Given the description of an element on the screen output the (x, y) to click on. 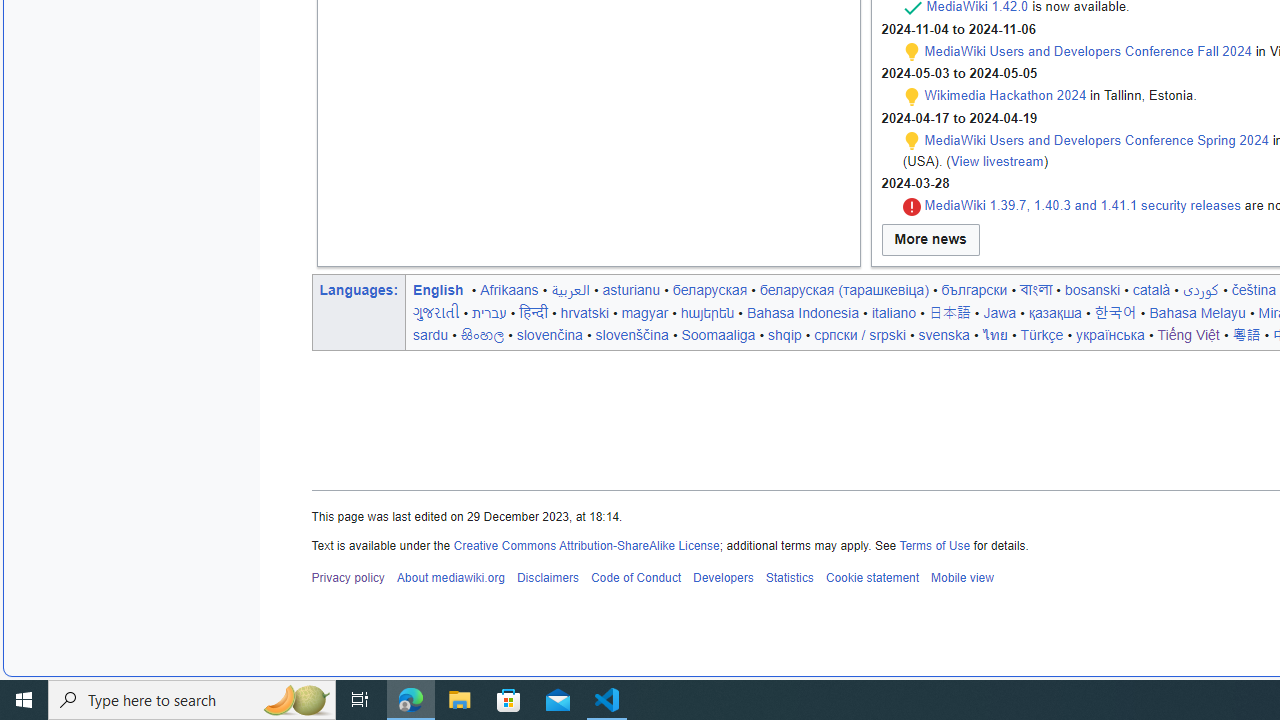
More news (930, 239)
asturianu (630, 289)
Cookie statement (872, 578)
Code of Conduct (635, 578)
svenska (943, 334)
MediaWiki Users and Developers Conference Spring 2024 (1096, 139)
Terms of Use (934, 544)
Privacy policy (348, 578)
Creative Commons Attribution-ShareAlike License (586, 544)
MediaWiki 1.39.7, 1.40.3 and 1.41.1 security releases (1082, 205)
